Given the description of an element on the screen output the (x, y) to click on. 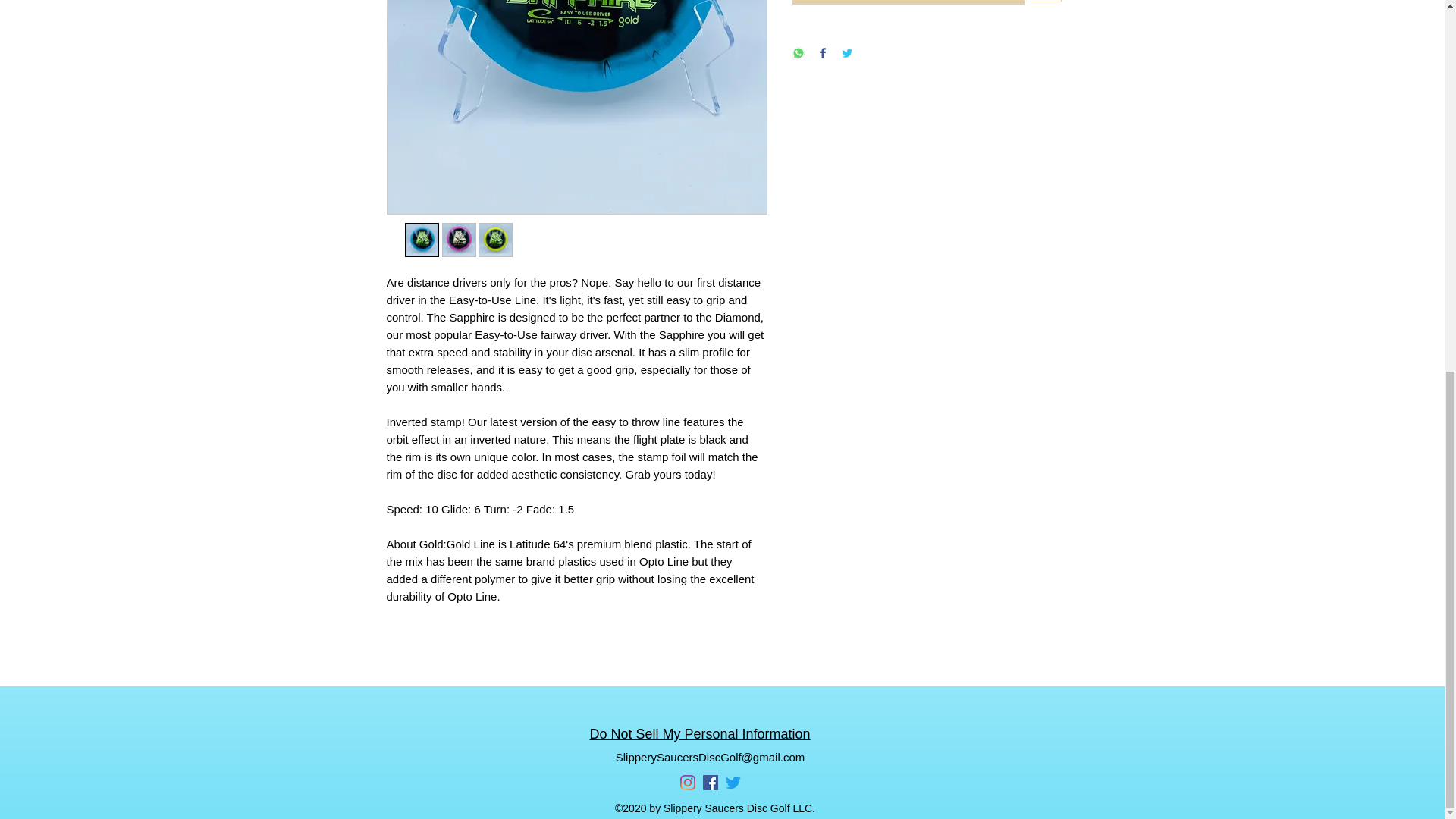
Do Not Sell My Personal Information (699, 734)
Notify When Available (908, 2)
